Given the description of an element on the screen output the (x, y) to click on. 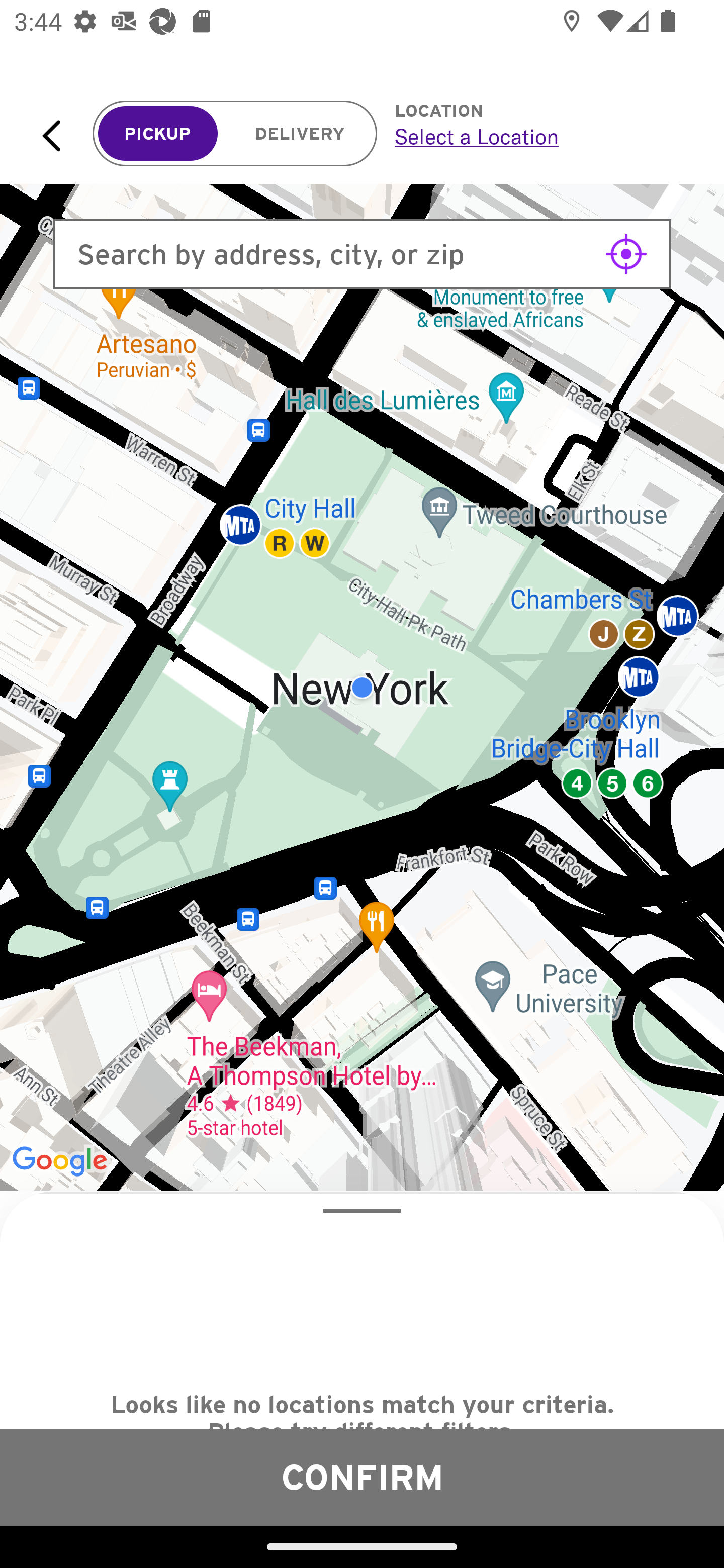
PICKUP (157, 133)
DELIVERY (299, 133)
Select a Location (536, 136)
Search by address, city, or zip (361, 254)
CONFIRM (362, 1476)
